Given the description of an element on the screen output the (x, y) to click on. 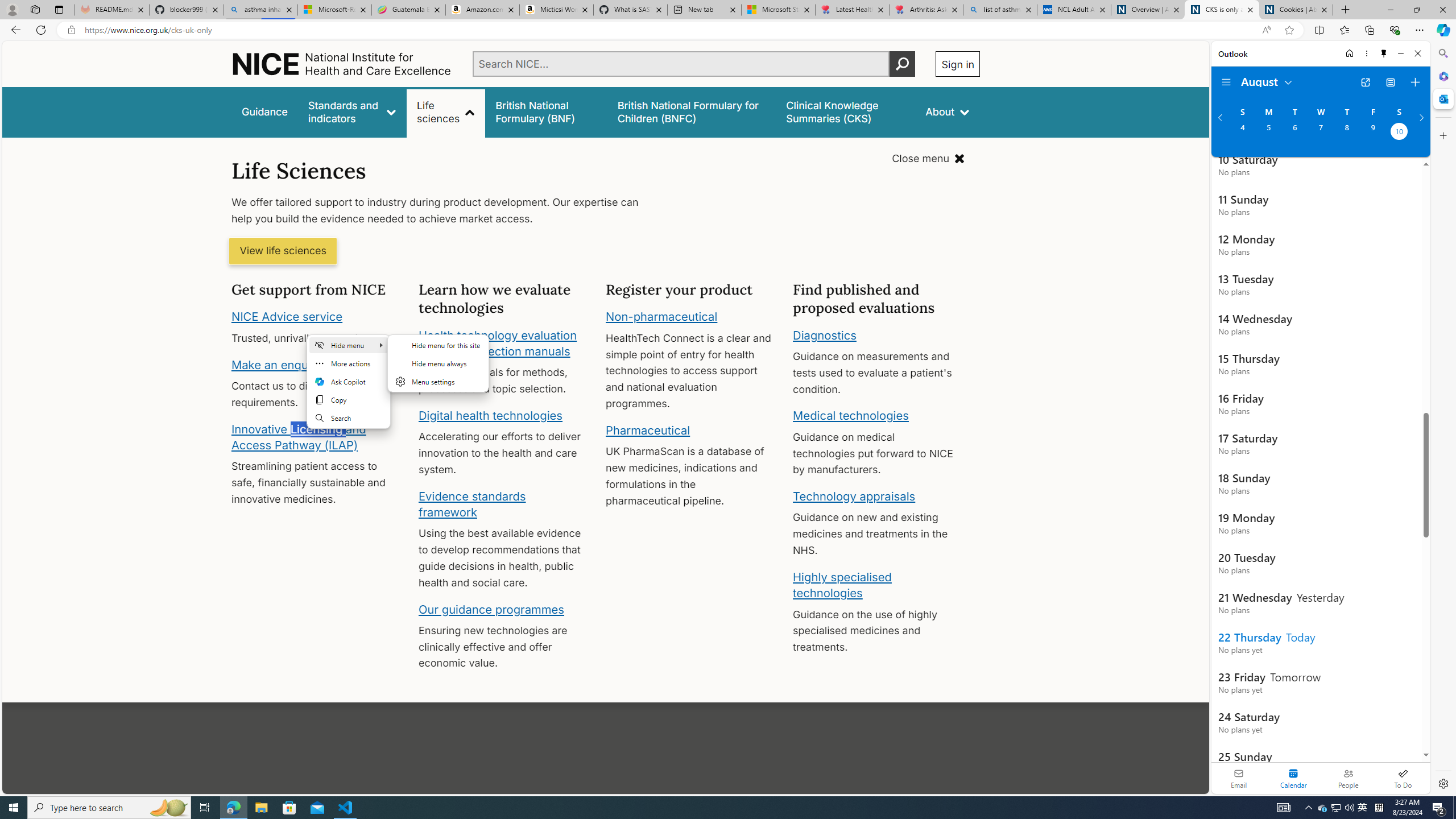
Sunday, August 4, 2024.  (1242, 132)
Highly specialised technologies (842, 584)
Hide menu (348, 344)
Hide menu (438, 370)
Close menu (927, 159)
asthma inhaler - Search (260, 9)
Technology appraisals (854, 495)
Pharmaceutical (647, 429)
View Switcher. Current view is Agenda view (1390, 82)
